Given the description of an element on the screen output the (x, y) to click on. 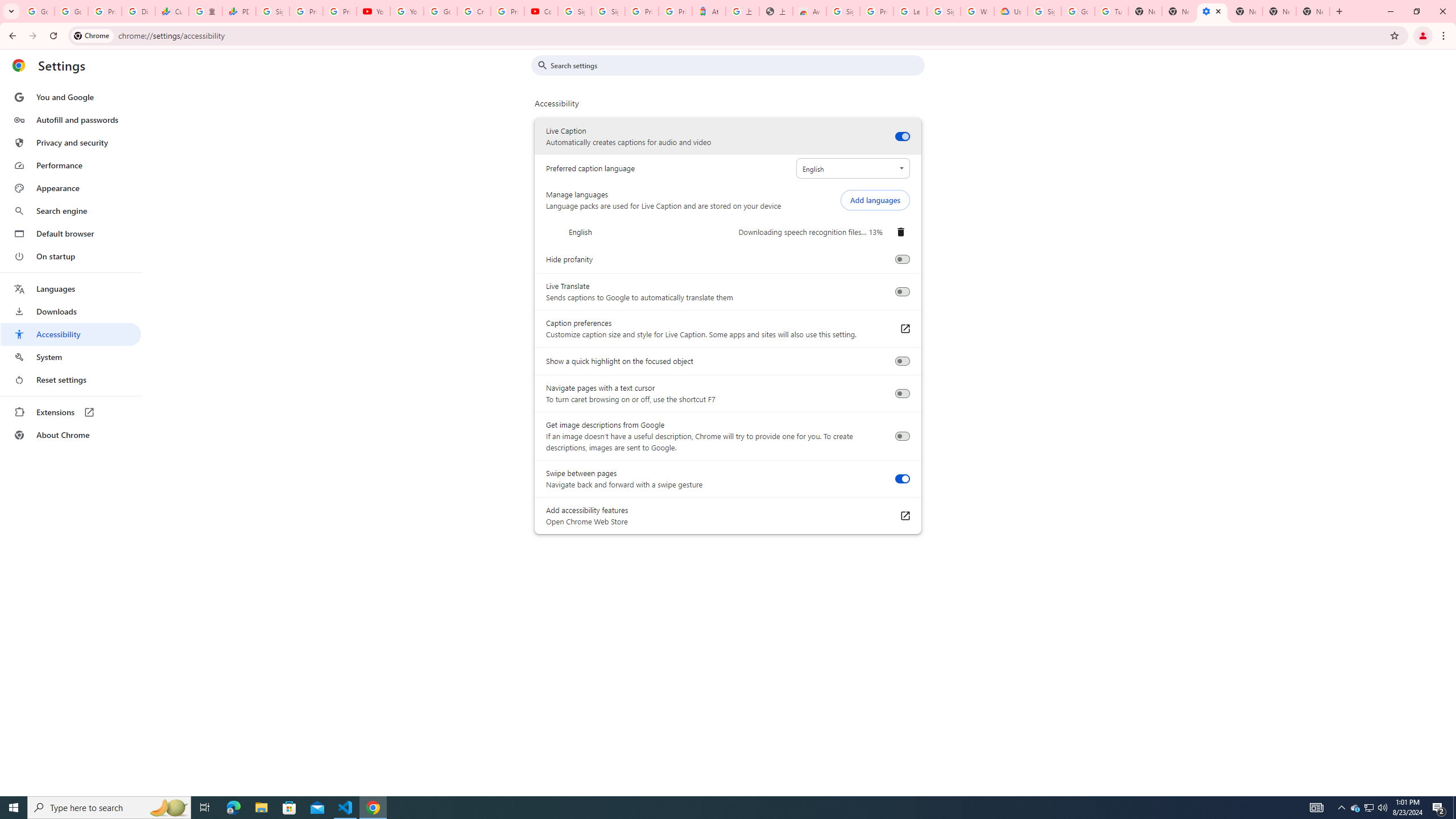
Appearance (70, 187)
Add accessibility features Open Chrome Web Store (904, 515)
New Tab (1246, 11)
Search engine (70, 210)
Settings - Accessibility (1212, 11)
